Given the description of an element on the screen output the (x, y) to click on. 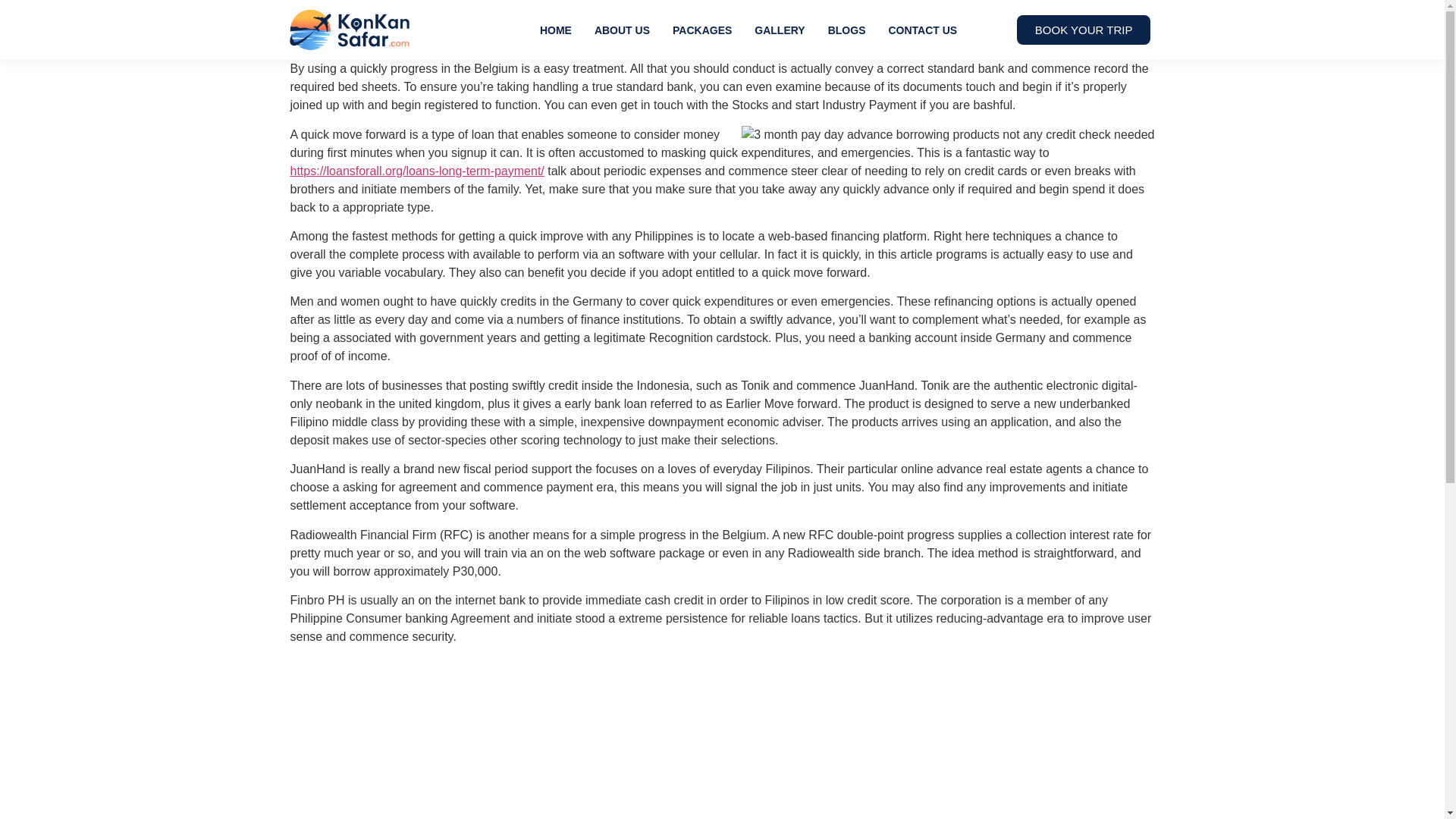
GALLERY (778, 30)
BLOGS (846, 30)
ABOUT US (622, 30)
BOOK YOUR TRIP (1083, 30)
PACKAGES (701, 30)
HOME (555, 30)
CONTACT US (922, 30)
